Given the description of an element on the screen output the (x, y) to click on. 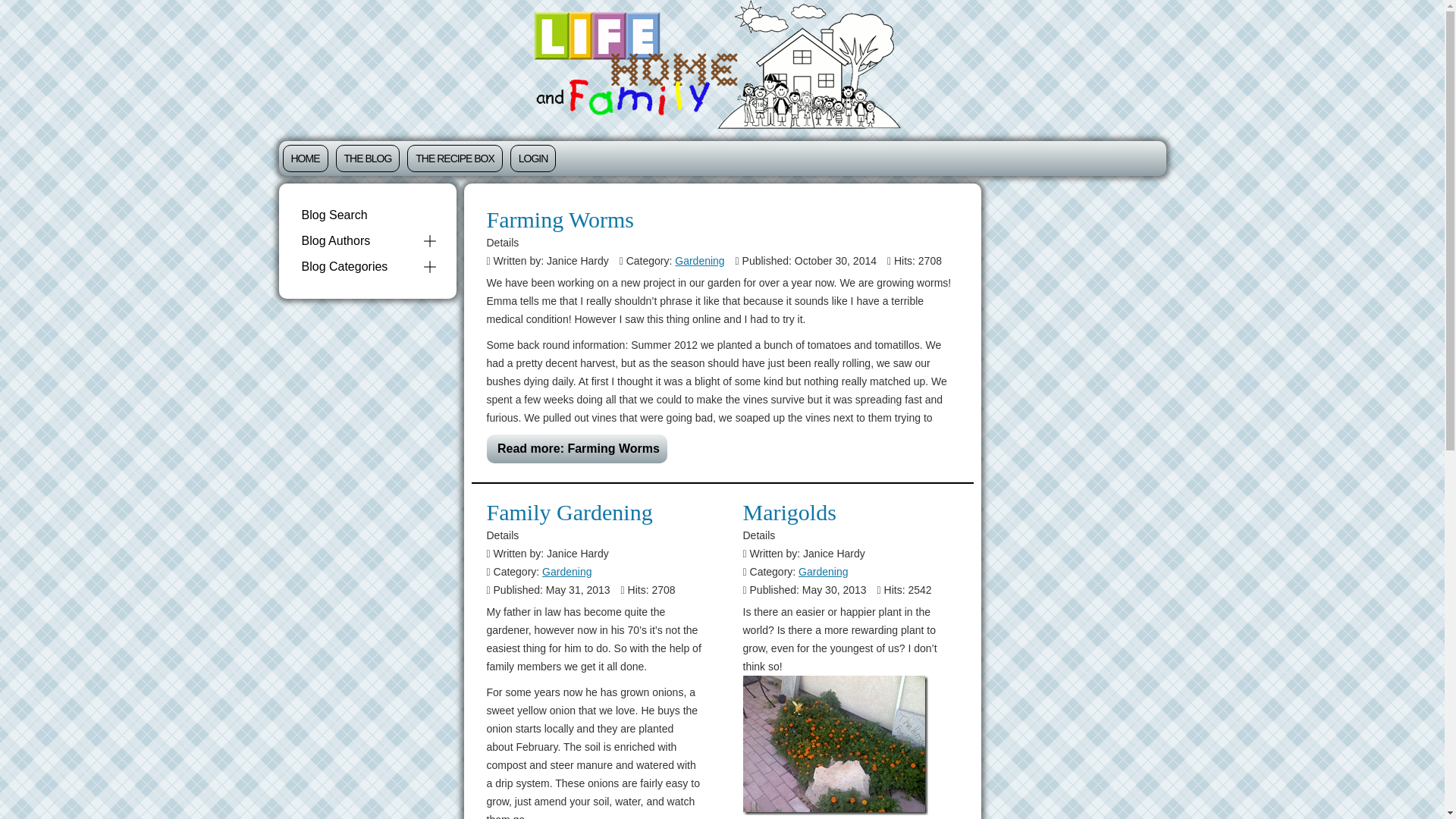
Blog Authors (359, 240)
THE BLOG (366, 157)
Blog Categories (359, 266)
LOGIN (533, 157)
Blog Search (366, 215)
THE RECIPE BOX (454, 157)
HOME (304, 157)
20130529090001 (835, 744)
